Given the description of an element on the screen output the (x, y) to click on. 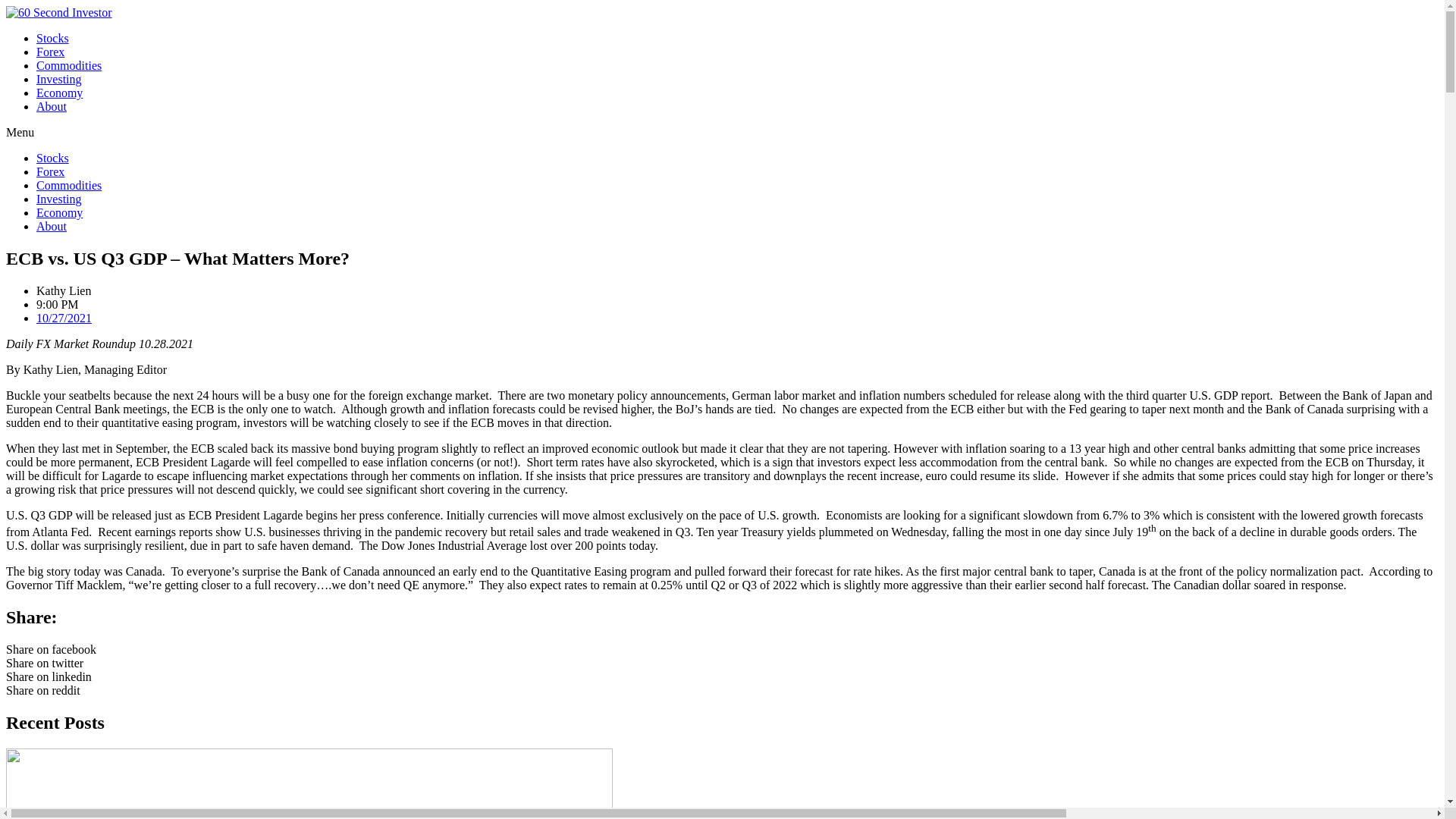
About (51, 226)
Economy (59, 212)
Commodities (68, 185)
Stocks (52, 157)
Economy (59, 92)
Investing (58, 198)
Forex (50, 171)
About (51, 106)
Forex (50, 51)
Investing (58, 78)
Stocks (52, 38)
Commodities (68, 65)
